Given the description of an element on the screen output the (x, y) to click on. 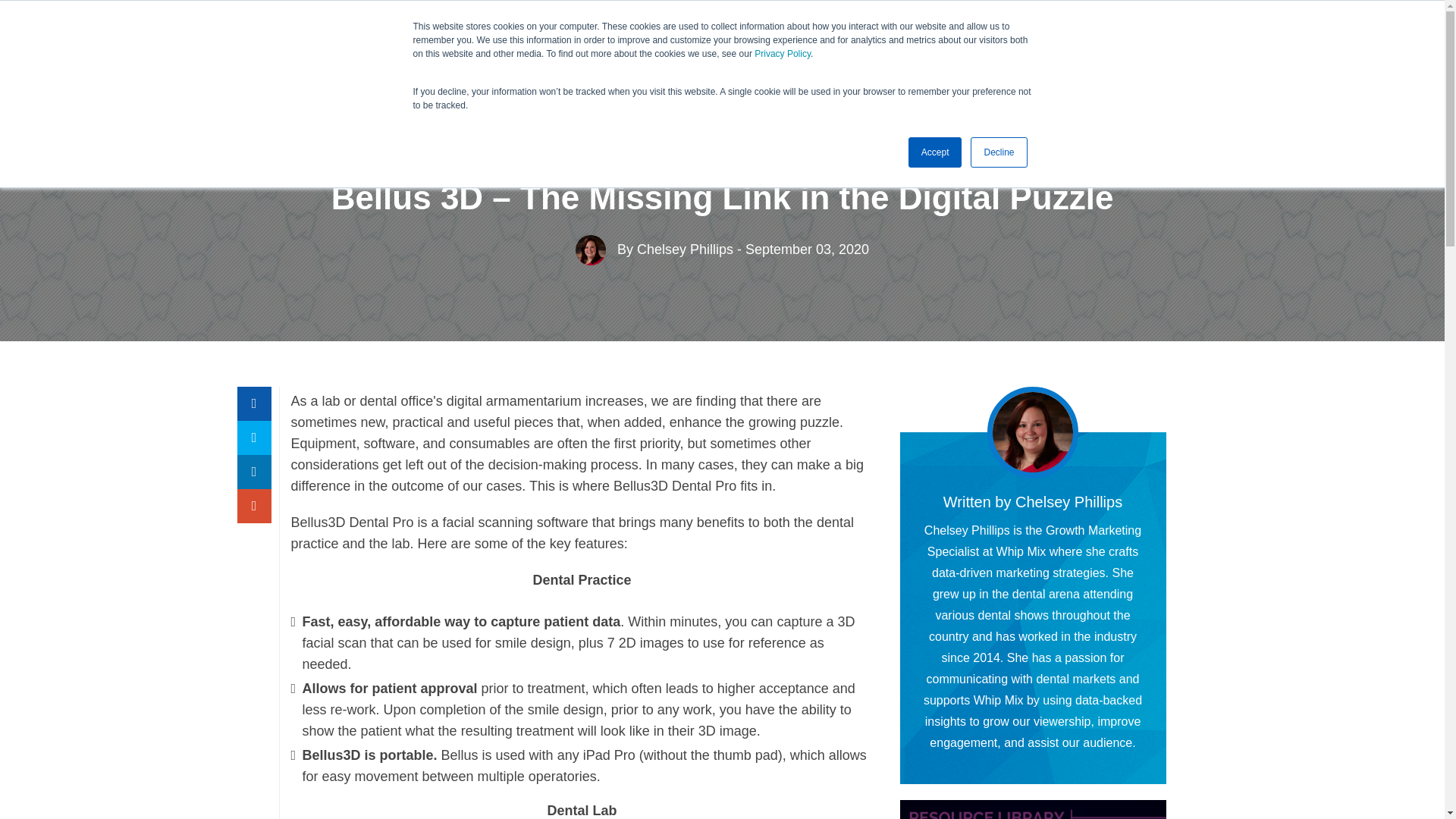
Resource Library (810, 33)
Chelsey Phillips (1068, 501)
Find a Dealer (990, 33)
Menu Item 4 (706, 119)
Decline (998, 152)
Products (704, 33)
Menu Item 2 (461, 119)
Share on Facebook (252, 403)
Contact Us (1112, 35)
Accept (935, 152)
Menu Item 3 (583, 119)
Contact Us (1112, 35)
Shop (906, 33)
Chelsey Phillips (685, 249)
Share on LinkedIn (252, 471)
